Given the description of an element on the screen output the (x, y) to click on. 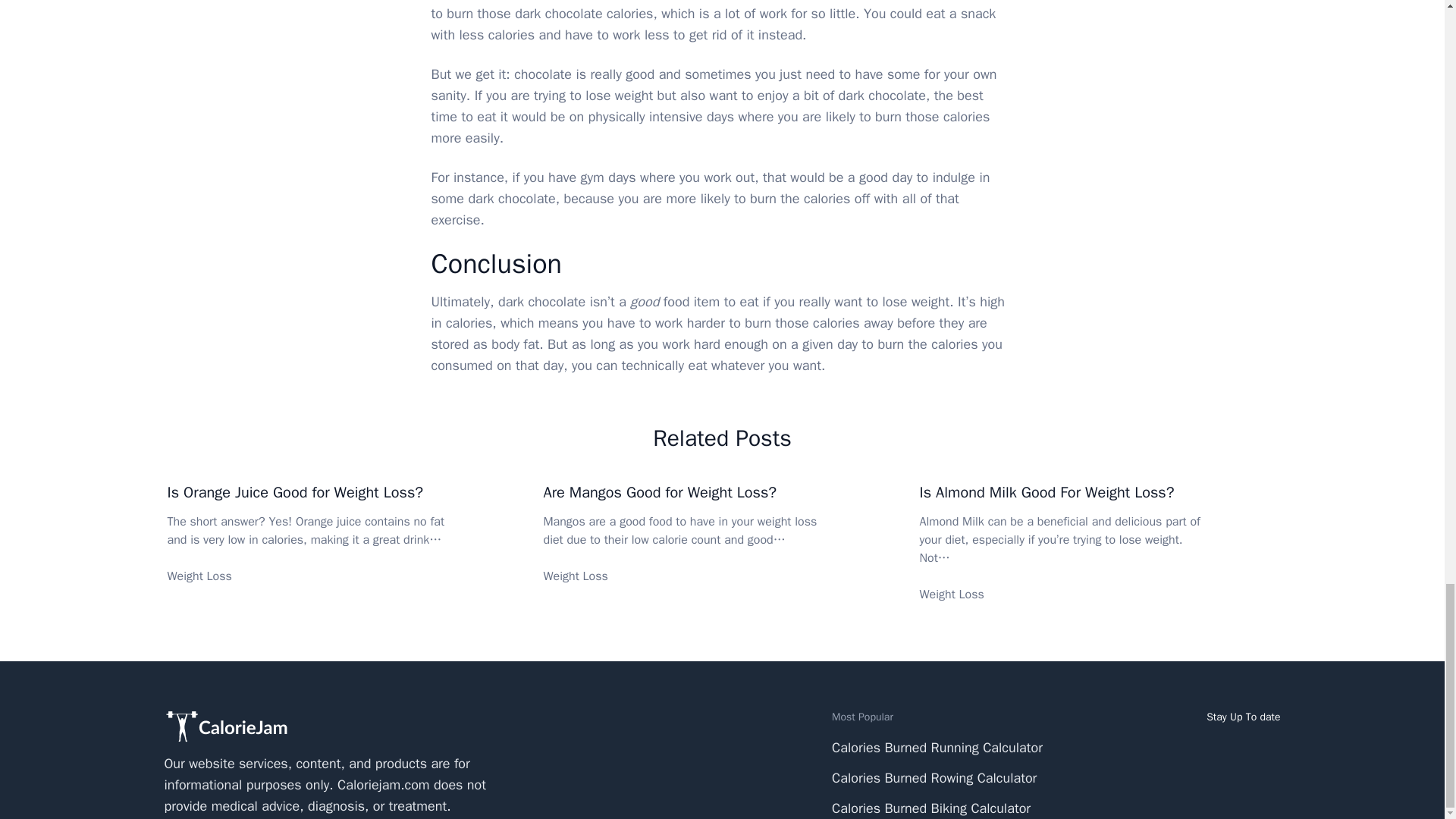
Calories Burned Biking Calculator (930, 808)
burn the calories (925, 343)
Calories Burned Running Calculator (936, 747)
Calories Burned Rowing Calculator (933, 777)
